Given the description of an element on the screen output the (x, y) to click on. 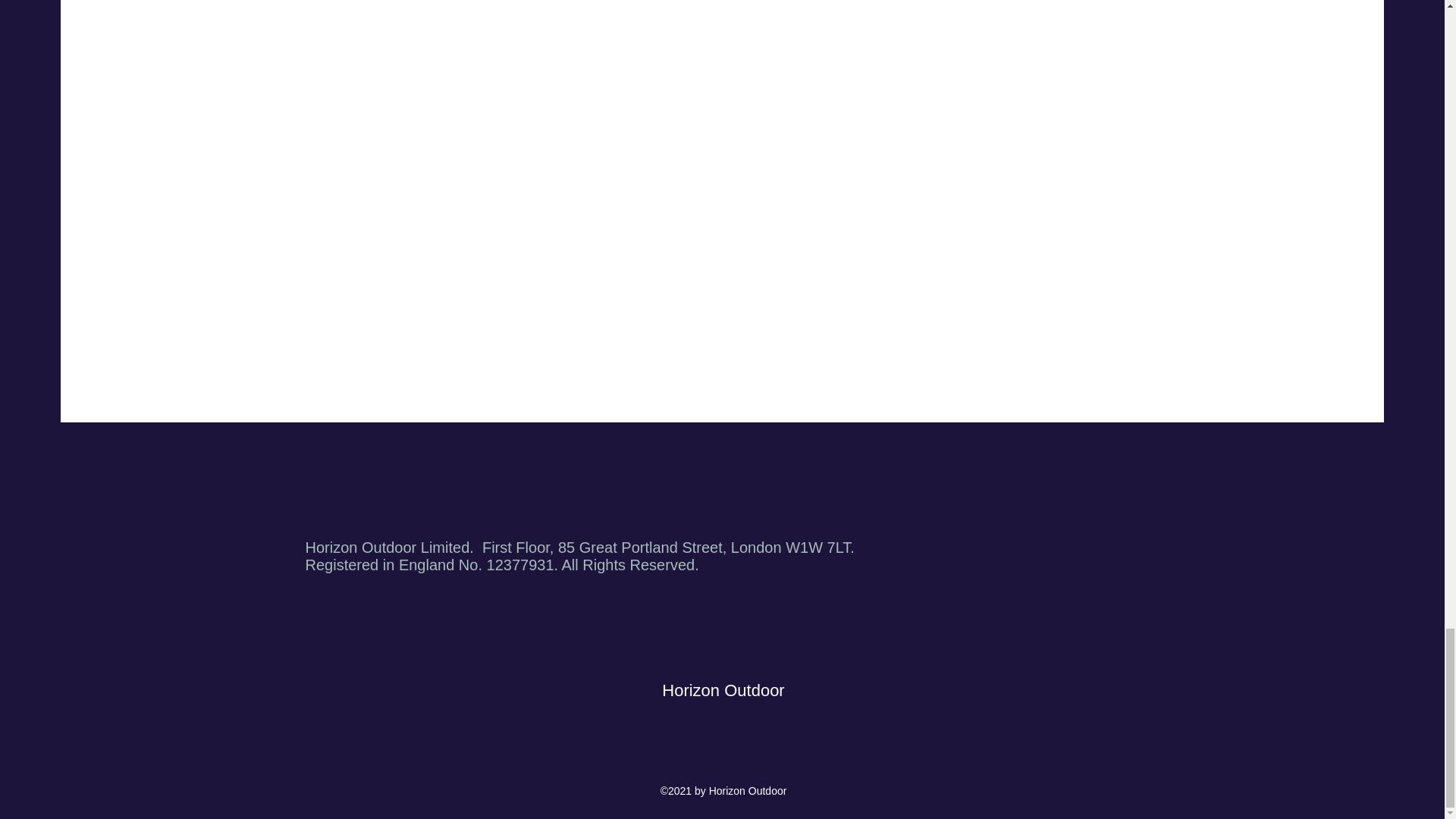
Horizon Outdoor (723, 690)
